Given the description of an element on the screen output the (x, y) to click on. 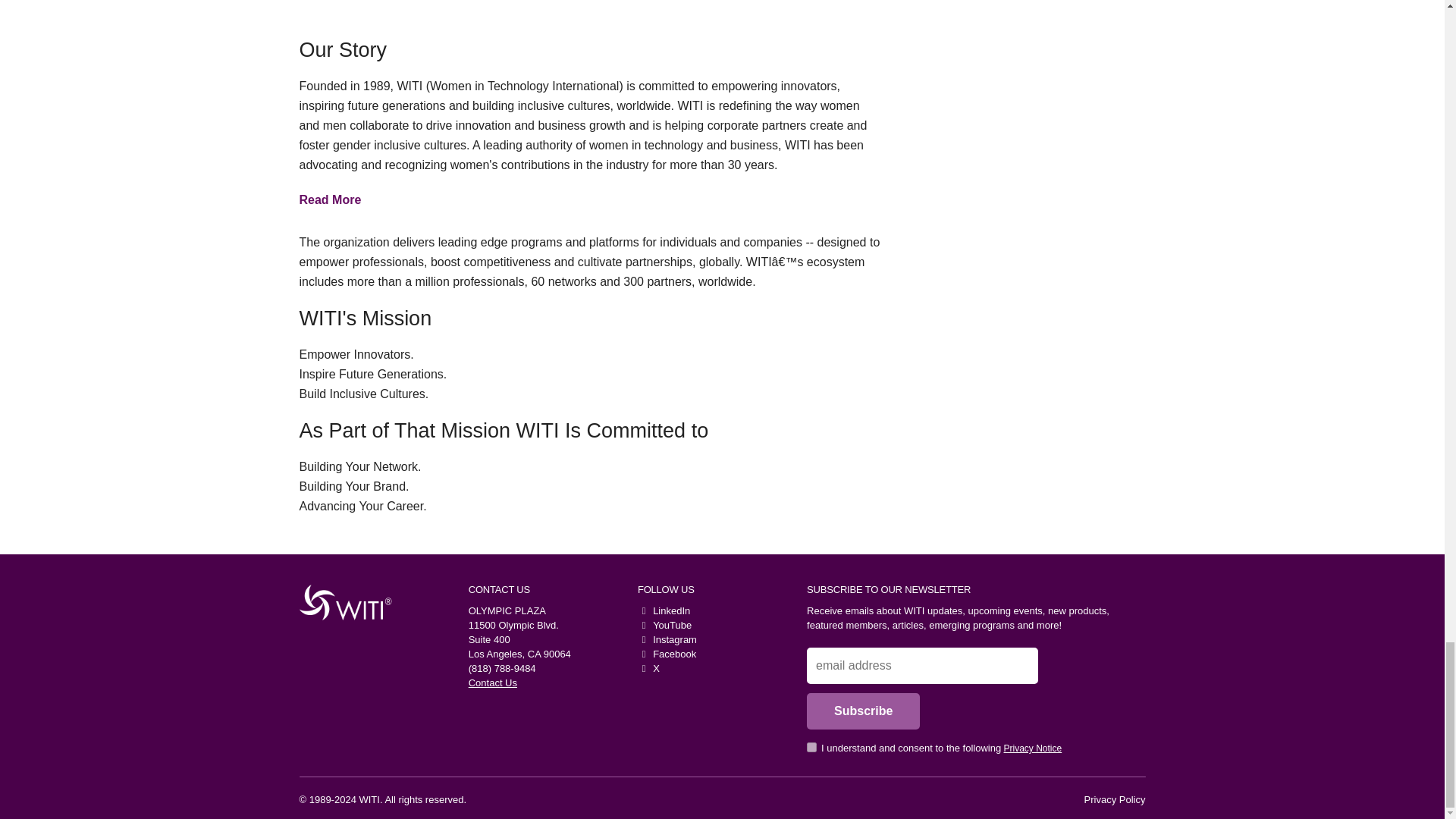
Workforce Innovation, Trust, and Influence (339, 601)
on (811, 747)
Read More (329, 199)
Subscribe (863, 710)
